Given the description of an element on the screen output the (x, y) to click on. 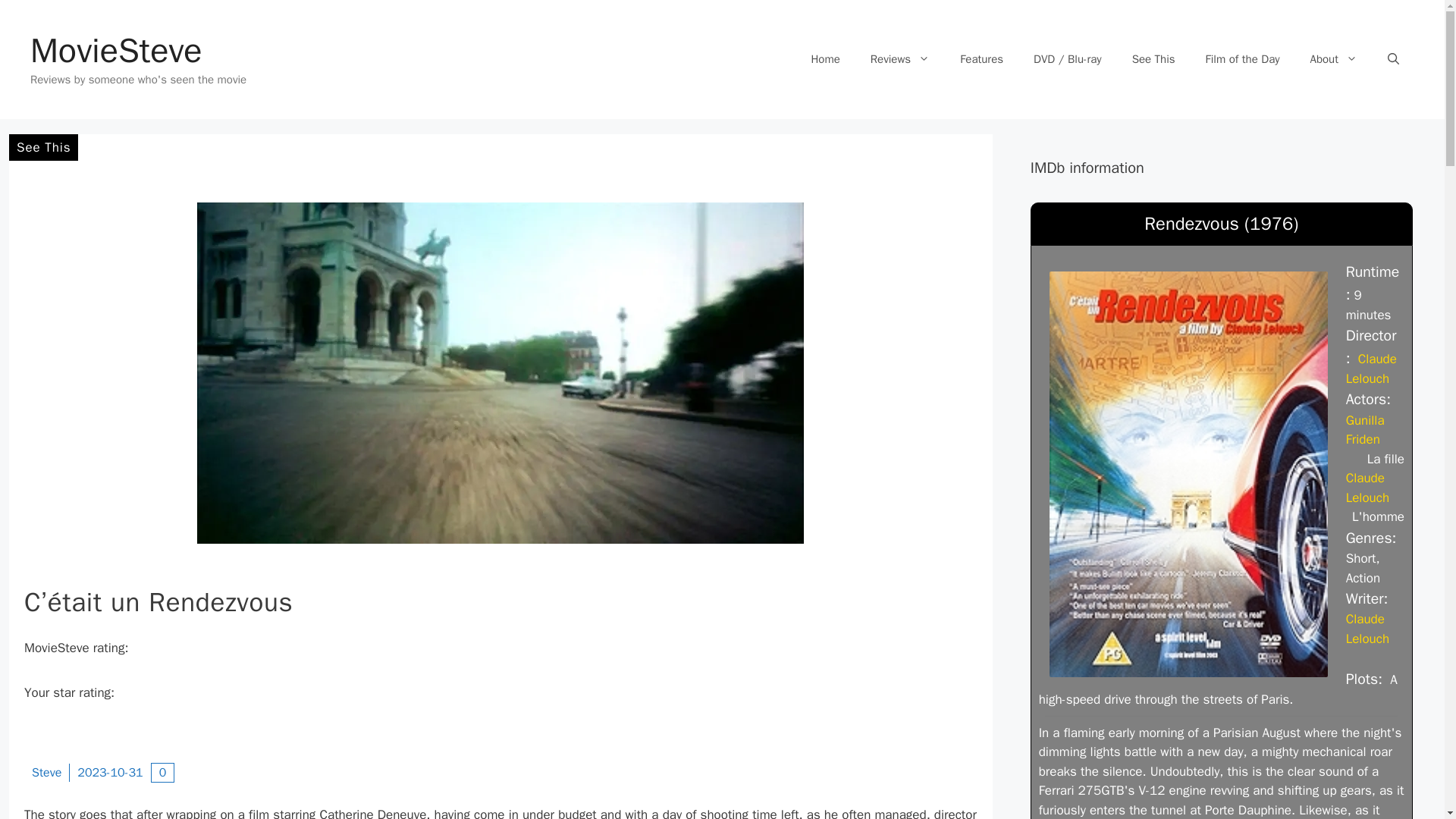
open a new window with IMDb informations (1370, 368)
Claude Lelouch (1367, 488)
Features (980, 58)
Gunilla Friden (1364, 429)
MovieSteve (116, 50)
open a new window with IMDb informations (1367, 628)
See This (43, 146)
Steve (46, 772)
Claude Lelouch (1367, 628)
Rendezvous (1188, 473)
